Given the description of an element on the screen output the (x, y) to click on. 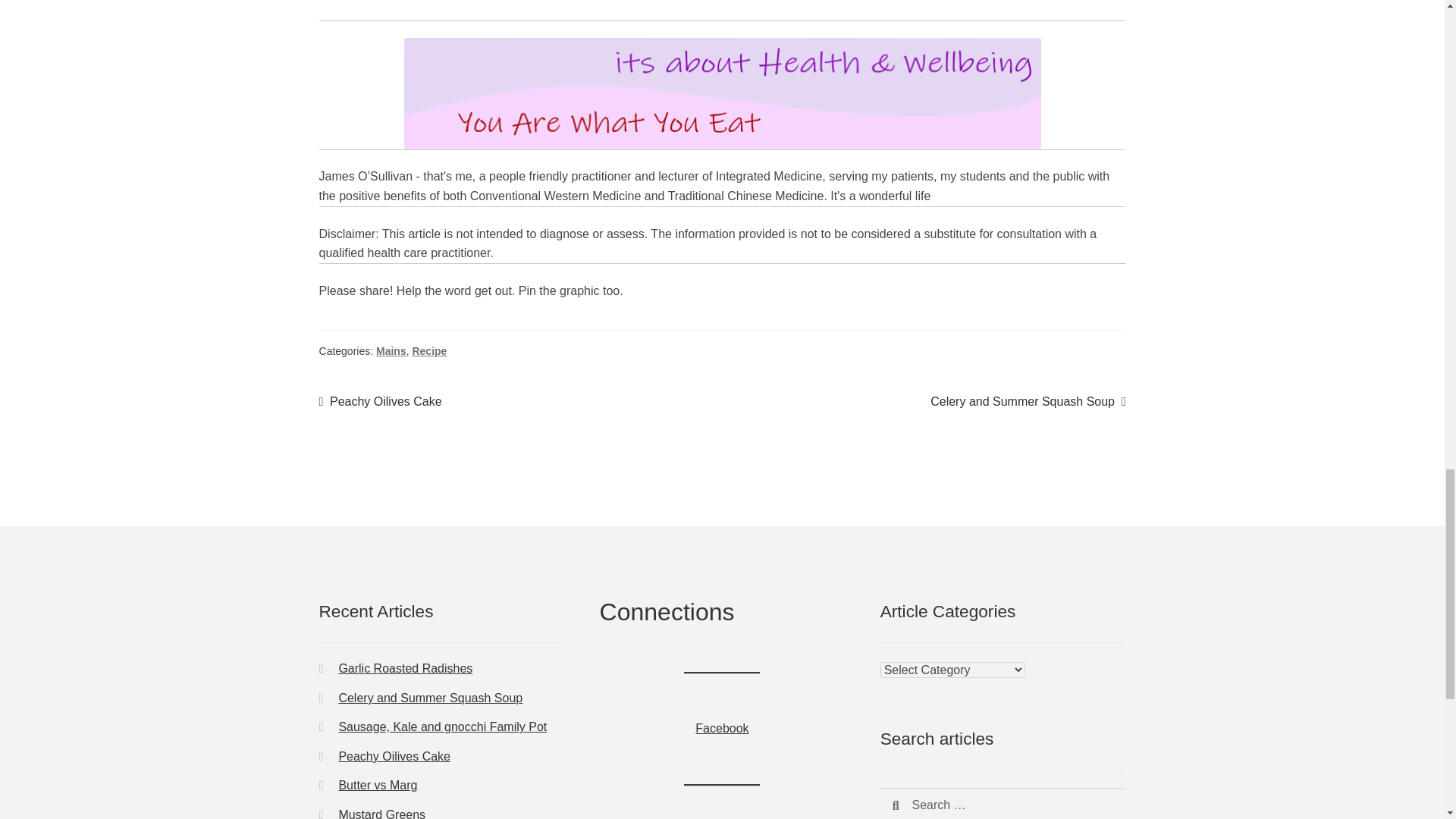
Celery and Summer Squash Soup (429, 697)
Garlic Roasted Radishes (404, 667)
Mustard Greens (380, 401)
Mains (381, 813)
Search (390, 350)
Peachy Oilives Cake (1027, 401)
Butter vs Marg (442, 726)
